Given the description of an element on the screen output the (x, y) to click on. 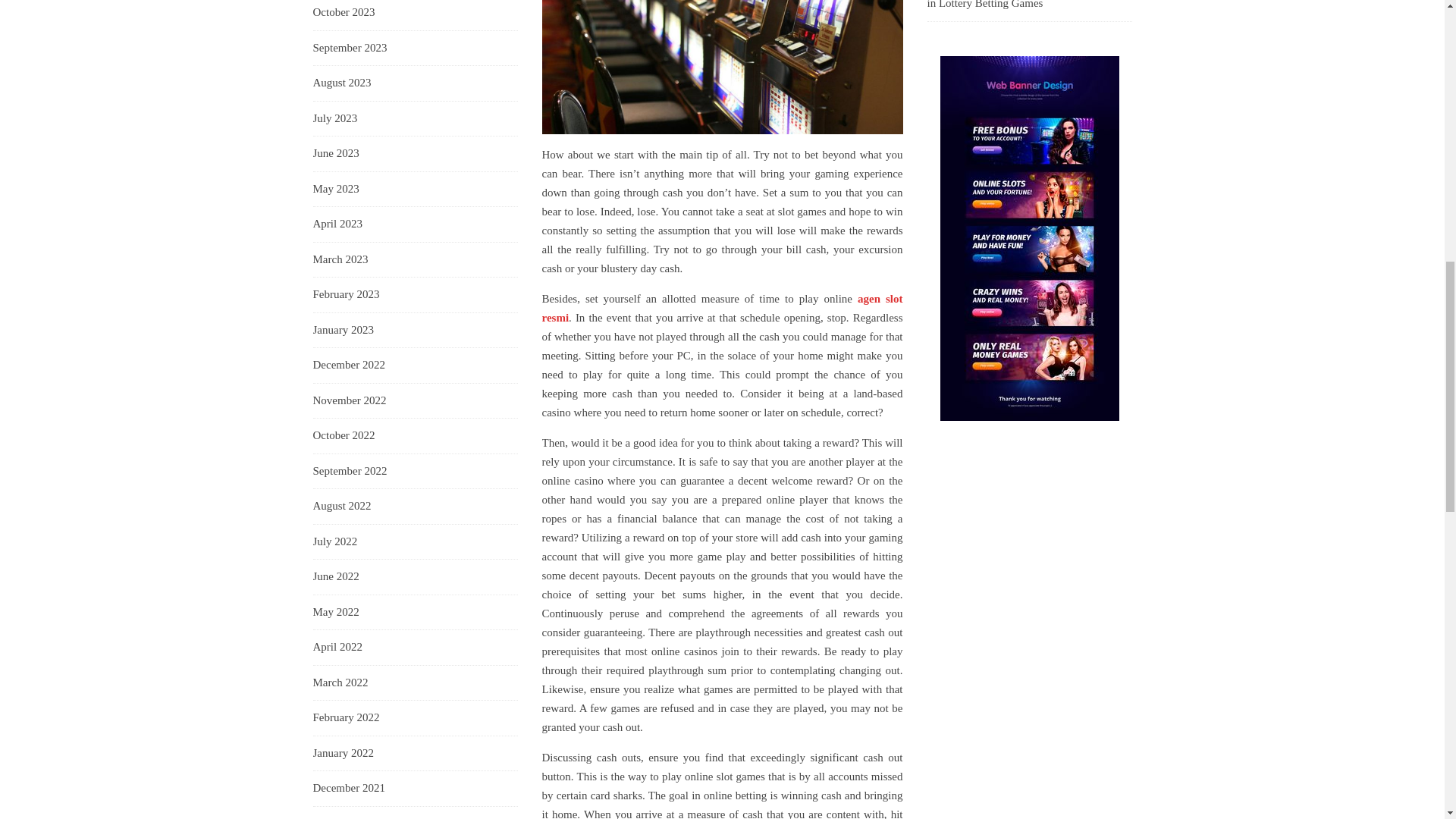
July 2023 (334, 118)
March 2023 (340, 259)
July 2022 (334, 541)
September 2022 (350, 471)
June 2023 (335, 153)
October 2023 (343, 12)
January 2022 (342, 753)
May 2023 (335, 189)
December 2022 (348, 364)
October 2022 (343, 435)
